Given the description of an element on the screen output the (x, y) to click on. 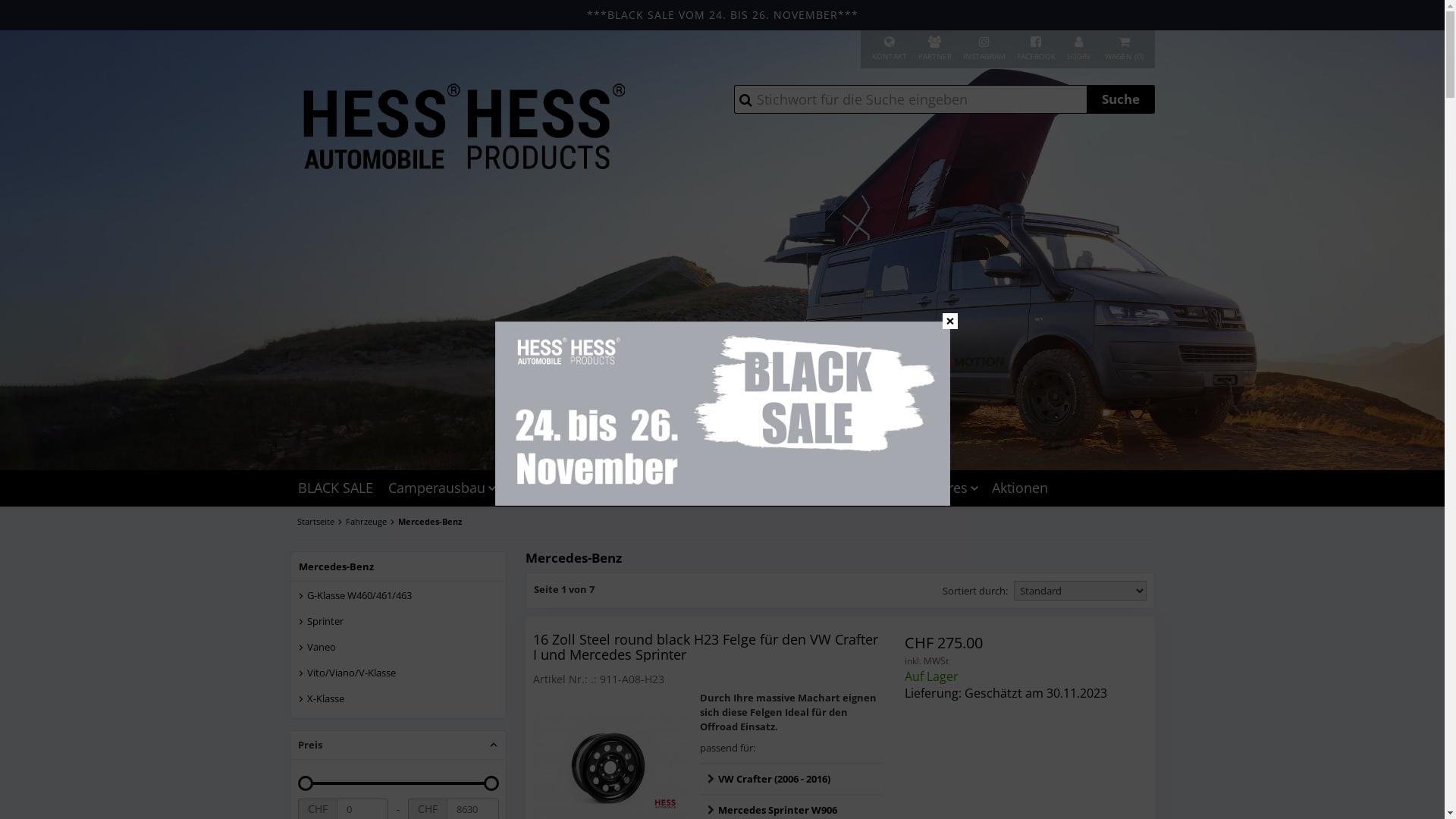
Mercedes Sprinter W906 Element type: text (776, 809)
Vaneo Element type: text (397, 651)
Vito/Viano/V-Klasse Element type: text (397, 676)
Startseite Element type: text (319, 521)
Gutscheine Element type: text (754, 488)
Mercedes-Benz Element type: text (398, 567)
X-Klasse Element type: text (397, 702)
WAGEN (0) Element type: text (1123, 48)
FACEBOOK Element type: text (1035, 48)
KONTAKT Element type: text (889, 48)
Suche Element type: text (1119, 98)
PARTNER Element type: text (933, 48)
Sprinter Element type: text (397, 625)
BLACK SALE Element type: text (334, 488)
Camperausbau Element type: text (441, 488)
DTC Gutachten Element type: text (561, 488)
VW Crafter (2006 - 2016) Element type: text (773, 778)
Aktionen Element type: text (1019, 488)
LOGIN Element type: text (1077, 48)
Fahrzeuge Element type: text (666, 488)
G-Klasse W460/461/463 Element type: text (397, 599)
INSTAGRAM Element type: text (984, 48)
Fahrzeuge Element type: text (369, 521)
